Given the description of an element on the screen output the (x, y) to click on. 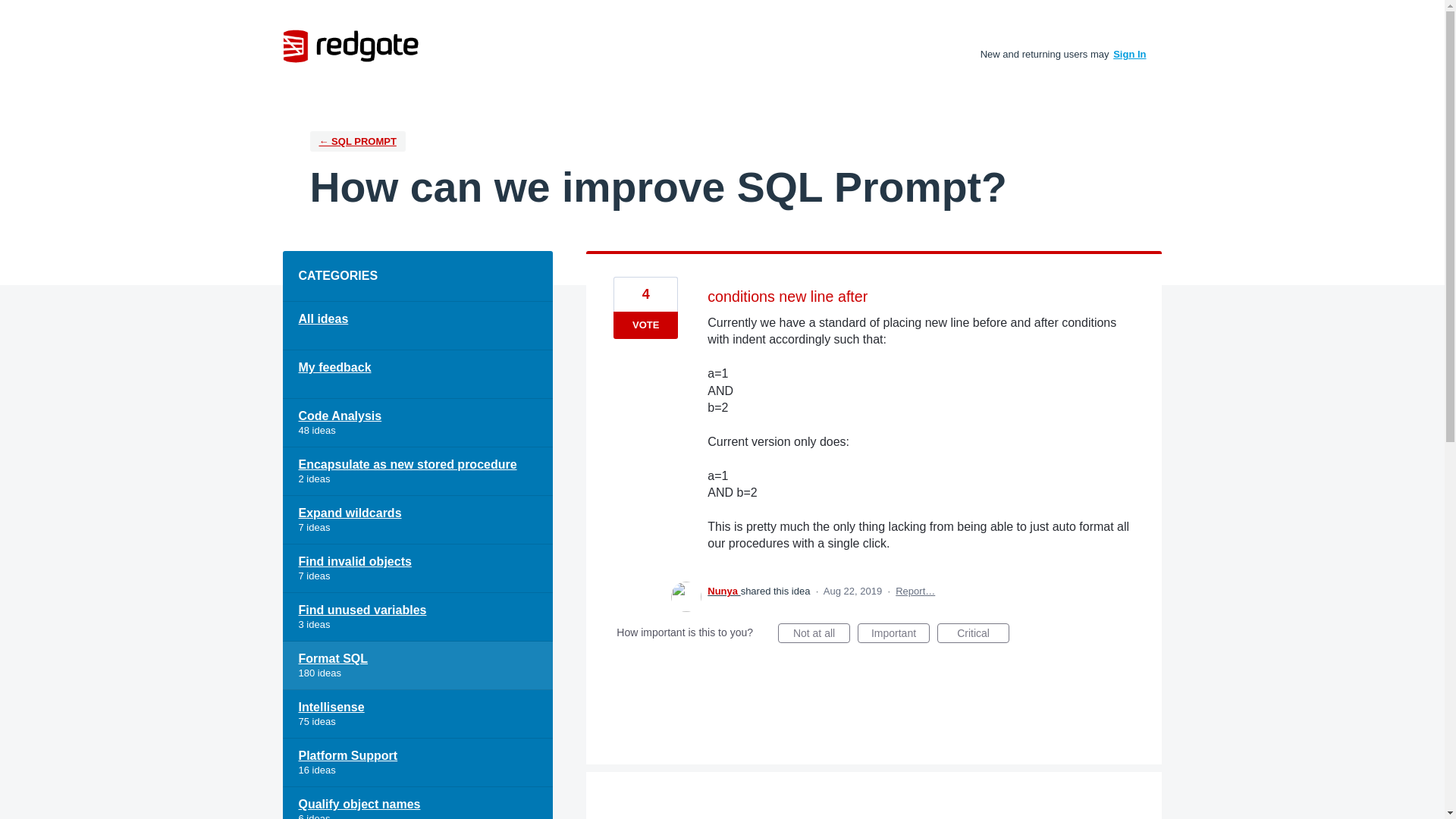
View all ideas in category Format SQL (417, 665)
View all ideas in category Find invalid objects (417, 568)
Customer Feedback for Redgate (350, 45)
My feedback (417, 374)
Platform Support (417, 762)
Format SQL (417, 665)
View all ideas in category Platform Support (417, 762)
Expand wildcards (417, 520)
Skip to content (12, 12)
Find invalid objects (417, 568)
